Given the description of an element on the screen output the (x, y) to click on. 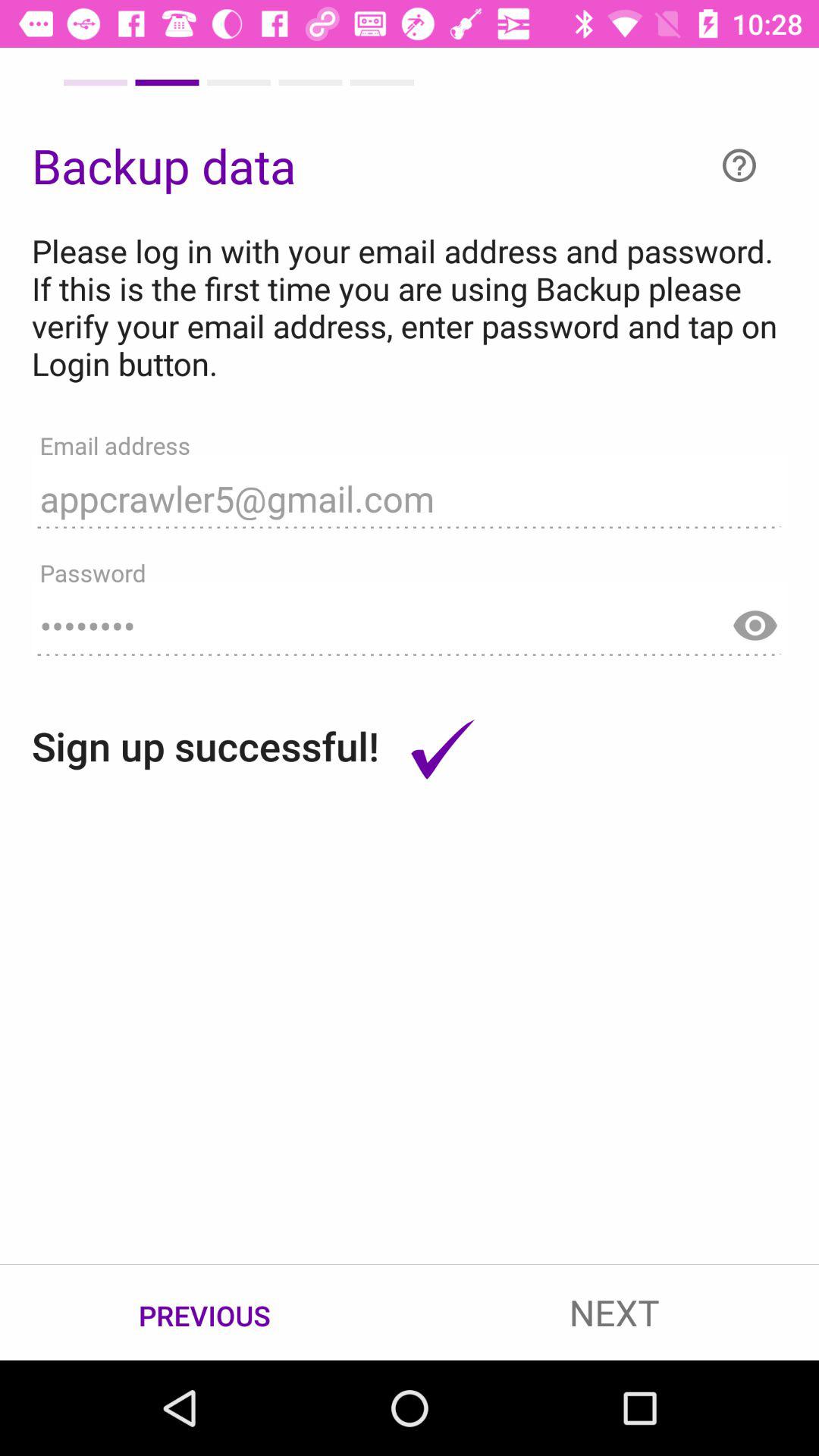
turn on the icon next to the backup data item (739, 165)
